Given the description of an element on the screen output the (x, y) to click on. 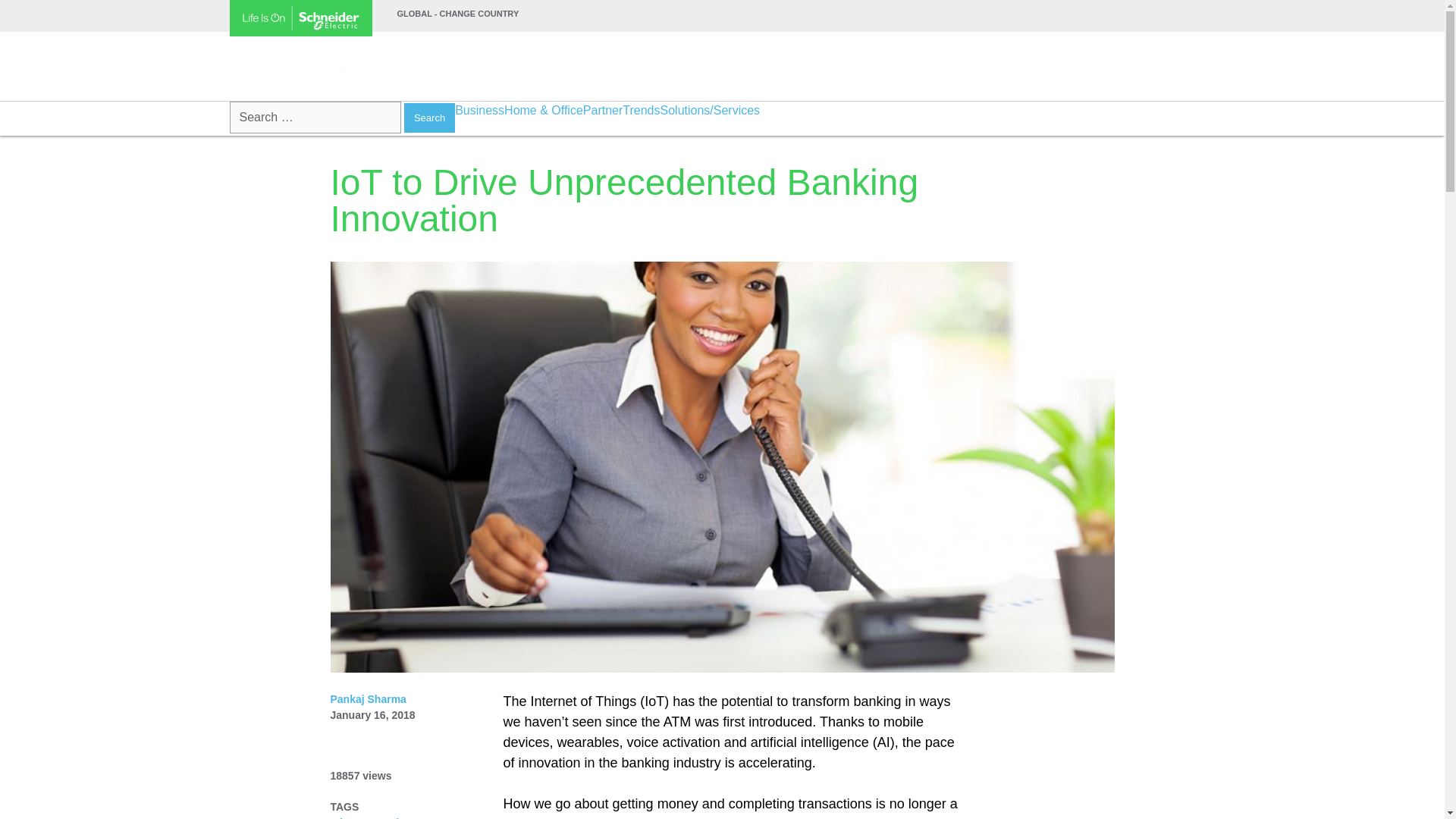
Trends (641, 110)
Share on LinkedIn (303, 319)
Search (429, 117)
Search (429, 117)
Business (478, 110)
Share on Facebook (303, 282)
Share on Twitter (303, 358)
GLOBAL - CHANGE COUNTRY (458, 13)
Search (429, 117)
Send this article to a friend! (303, 395)
